Given the description of an element on the screen output the (x, y) to click on. 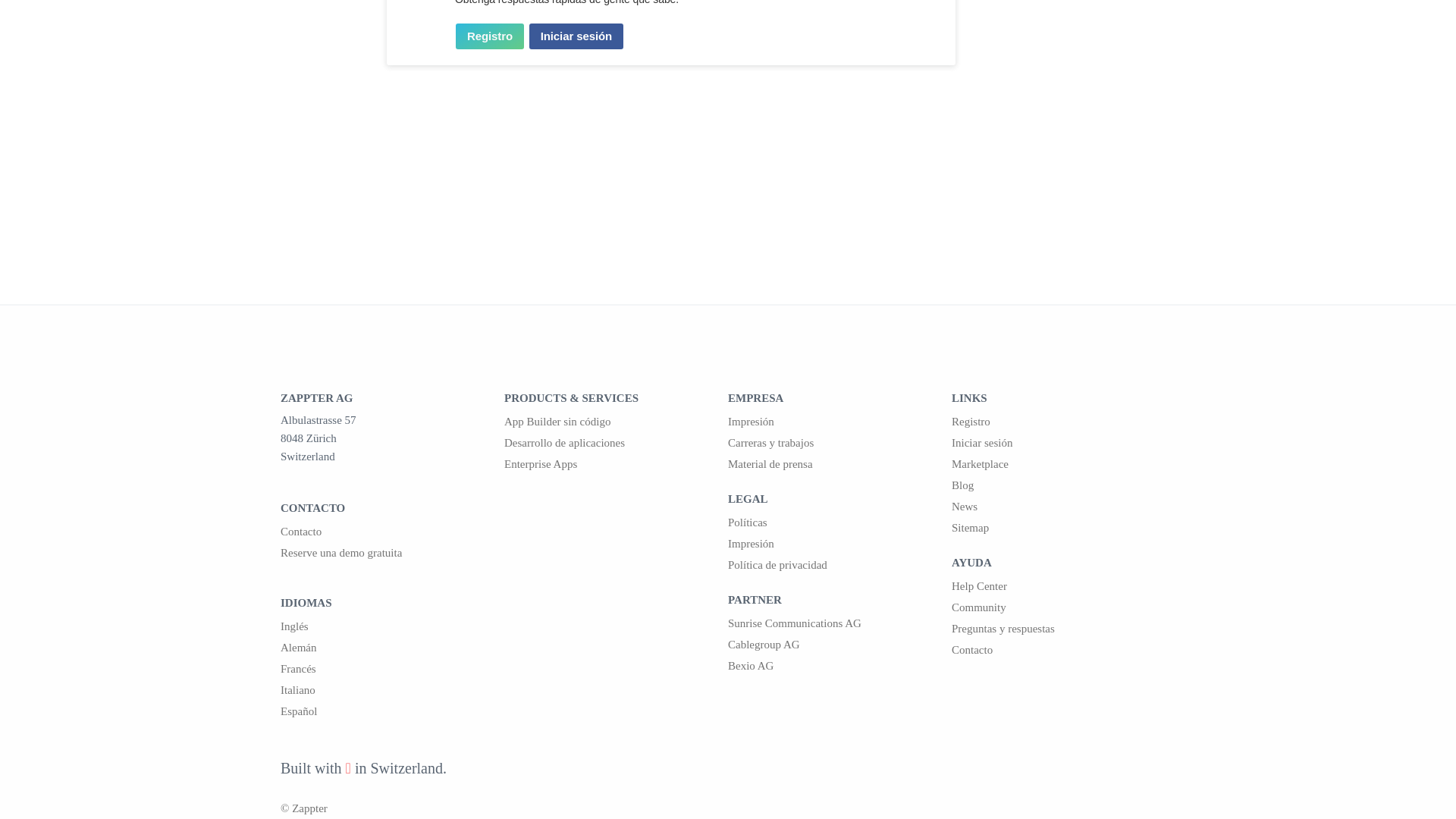
Marketplace (1063, 464)
Registro (489, 36)
News (1063, 506)
Zappter App Builder (615, 421)
Blog (1063, 485)
